Given the description of an element on the screen output the (x, y) to click on. 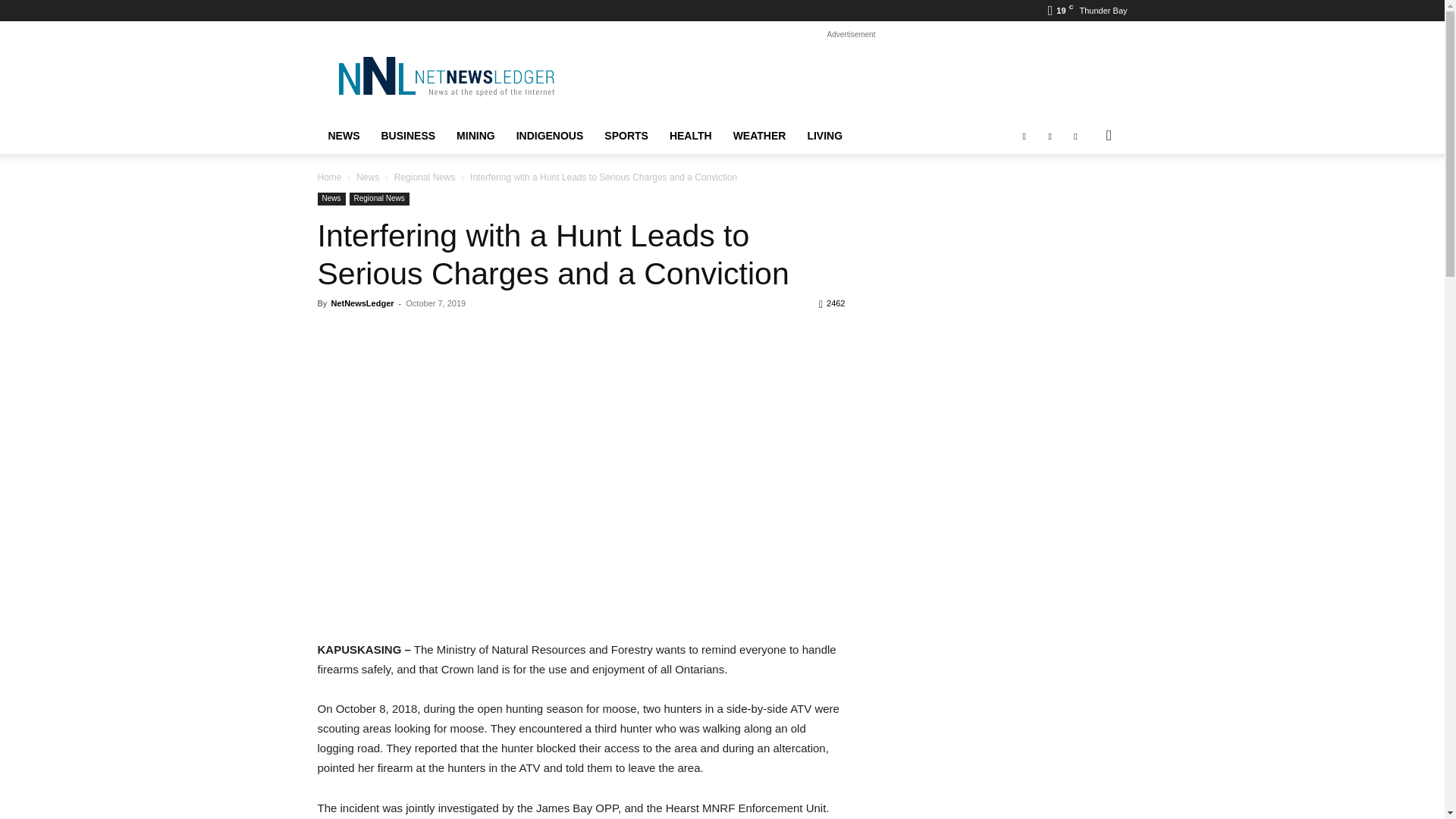
View all posts in Regional News (424, 176)
NetNewsLedger (445, 76)
View all posts in News (367, 176)
